Given the description of an element on the screen output the (x, y) to click on. 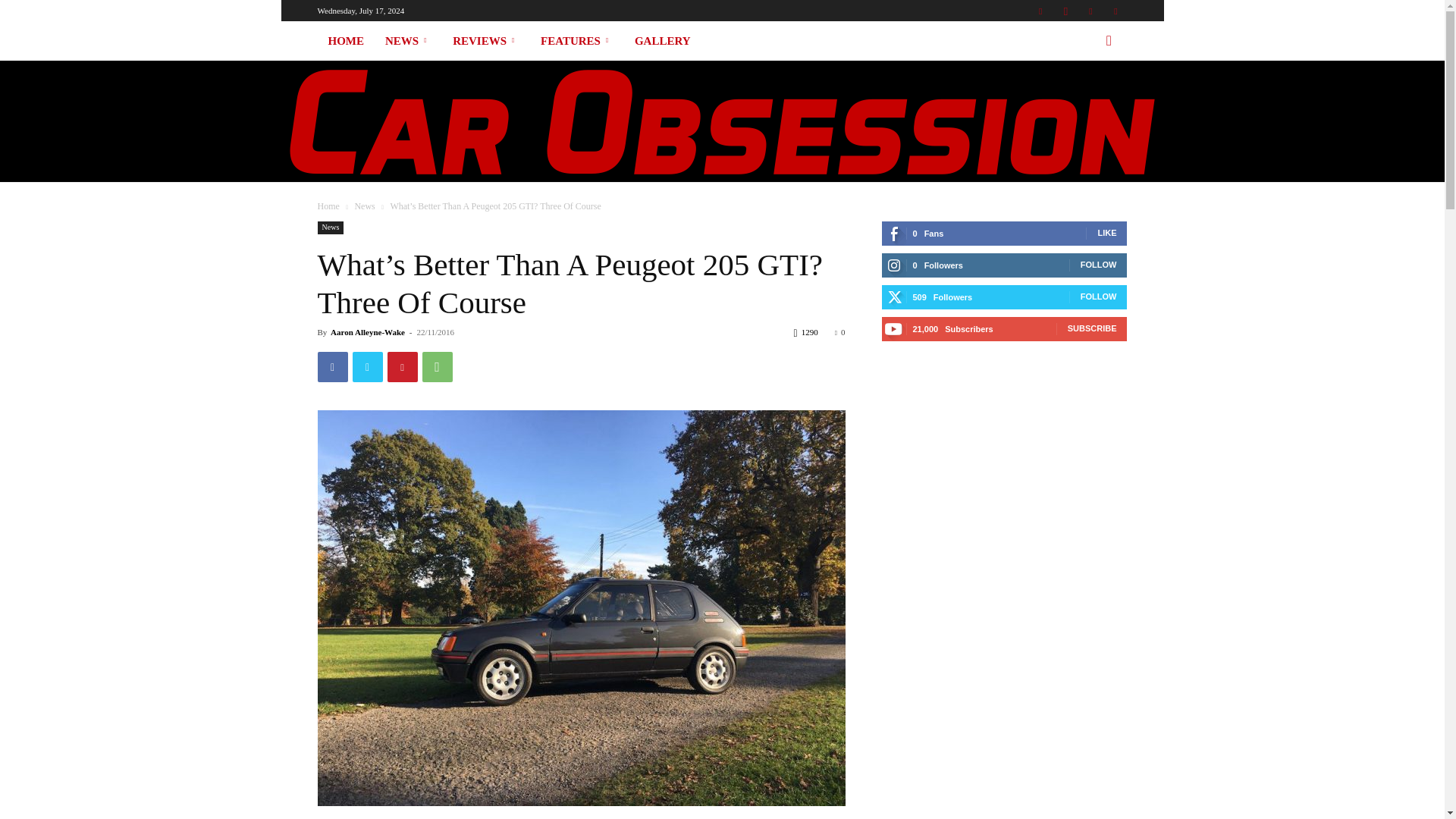
Facebook (1040, 10)
Youtube (1114, 10)
NEWS (408, 40)
Twitter (1090, 10)
Instagram (1065, 10)
HOME (345, 40)
